Given the description of an element on the screen output the (x, y) to click on. 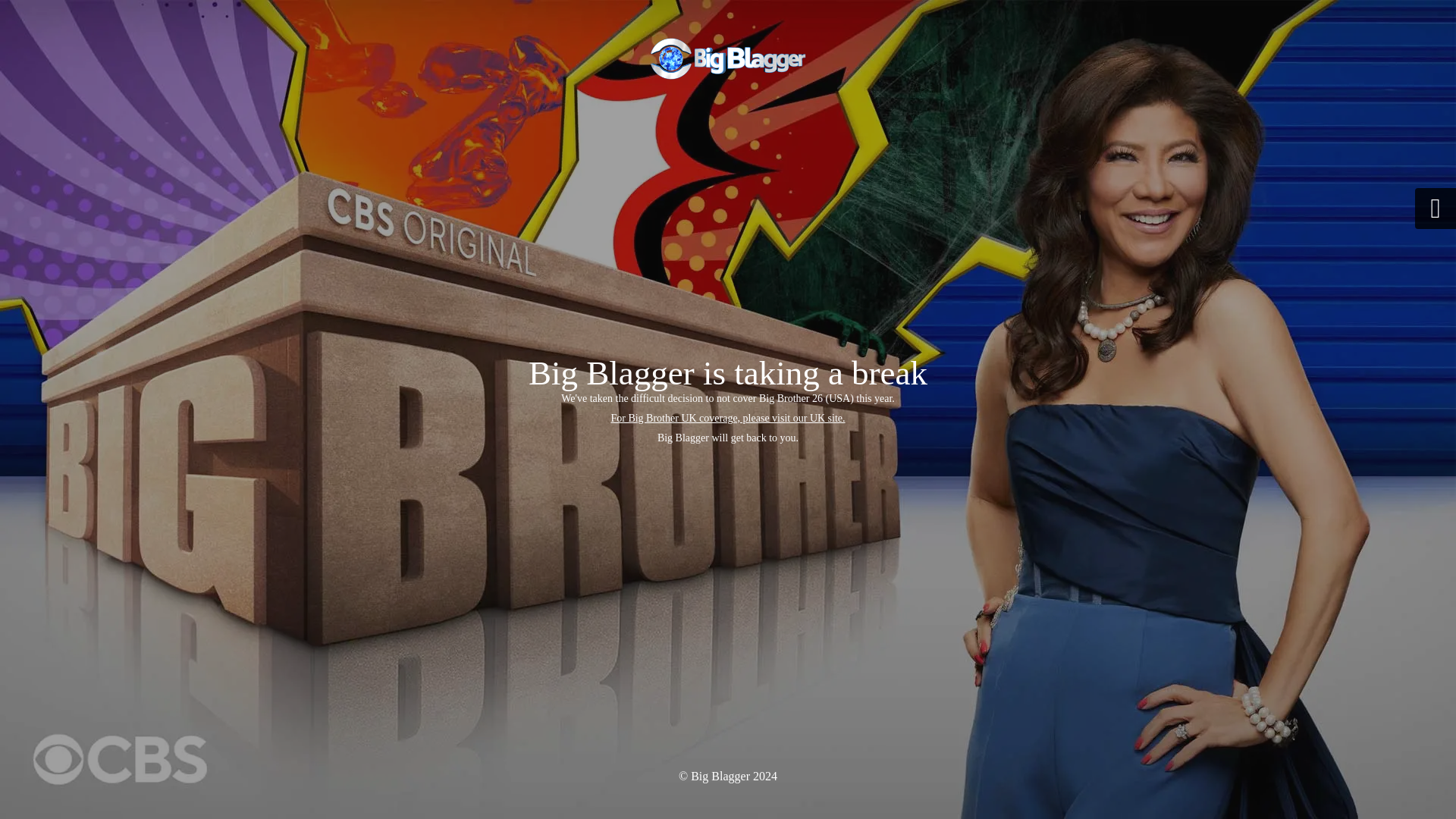
For Big Brother UK coverage, please visit our UK site. (727, 418)
